Given the description of an element on the screen output the (x, y) to click on. 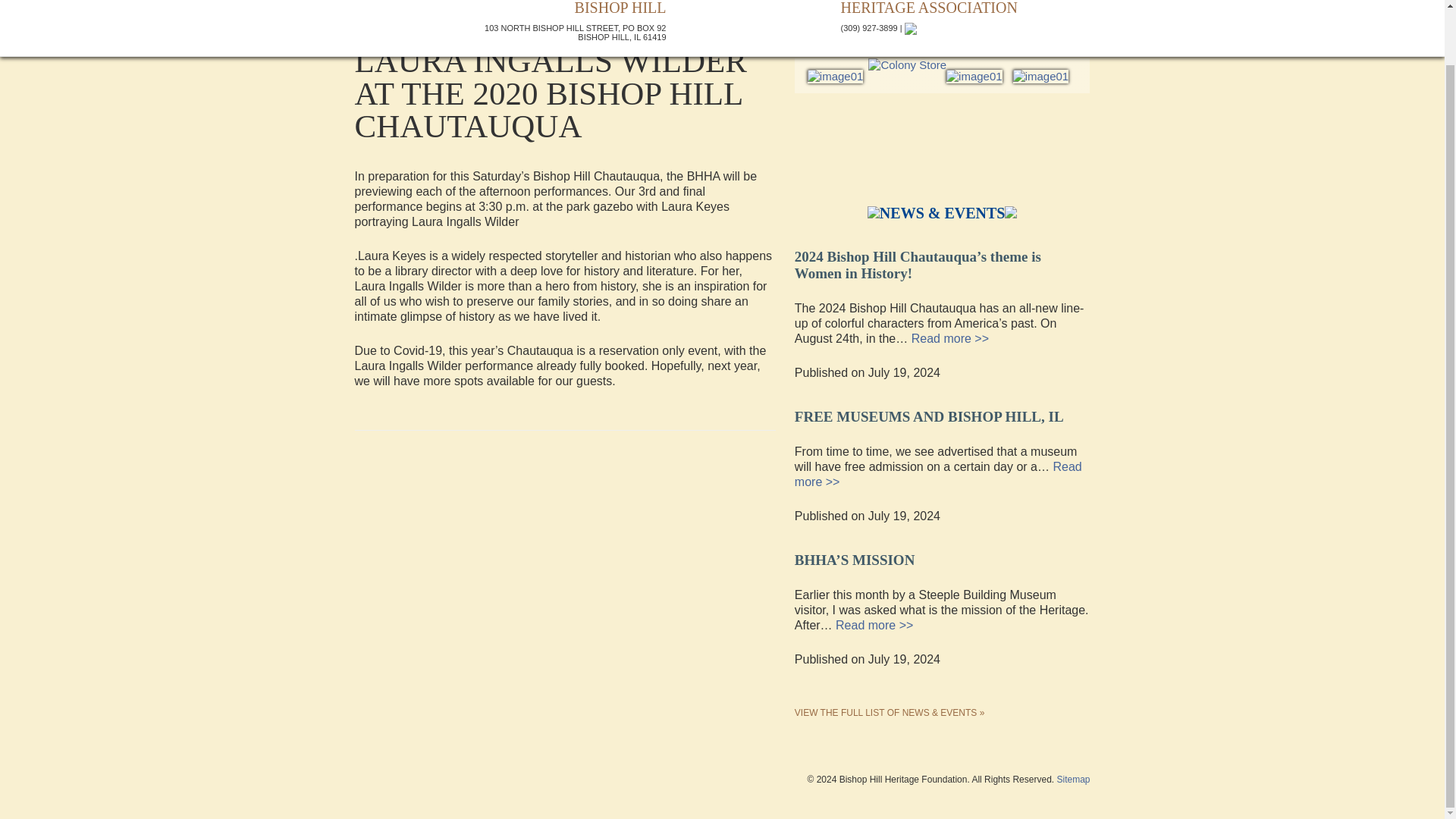
FREE MUSEUMS AND BISHOP HILL, IL (929, 412)
